Given the description of an element on the screen output the (x, y) to click on. 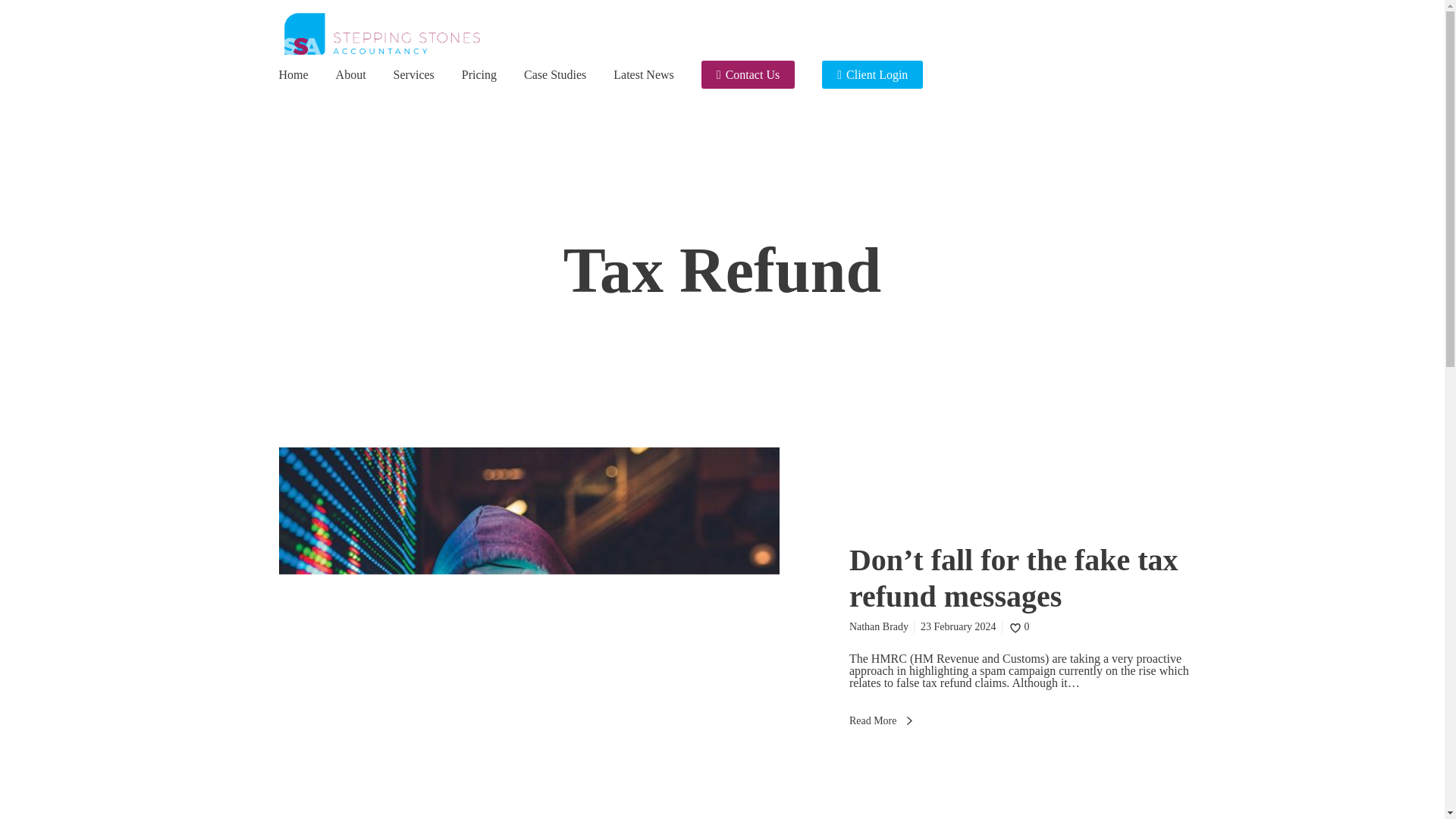
Home (293, 74)
Pricing (478, 74)
Latest News (643, 74)
Services (413, 74)
Client Login (872, 74)
Case Studies (555, 74)
Contact Us (747, 74)
About (351, 74)
